Given the description of an element on the screen output the (x, y) to click on. 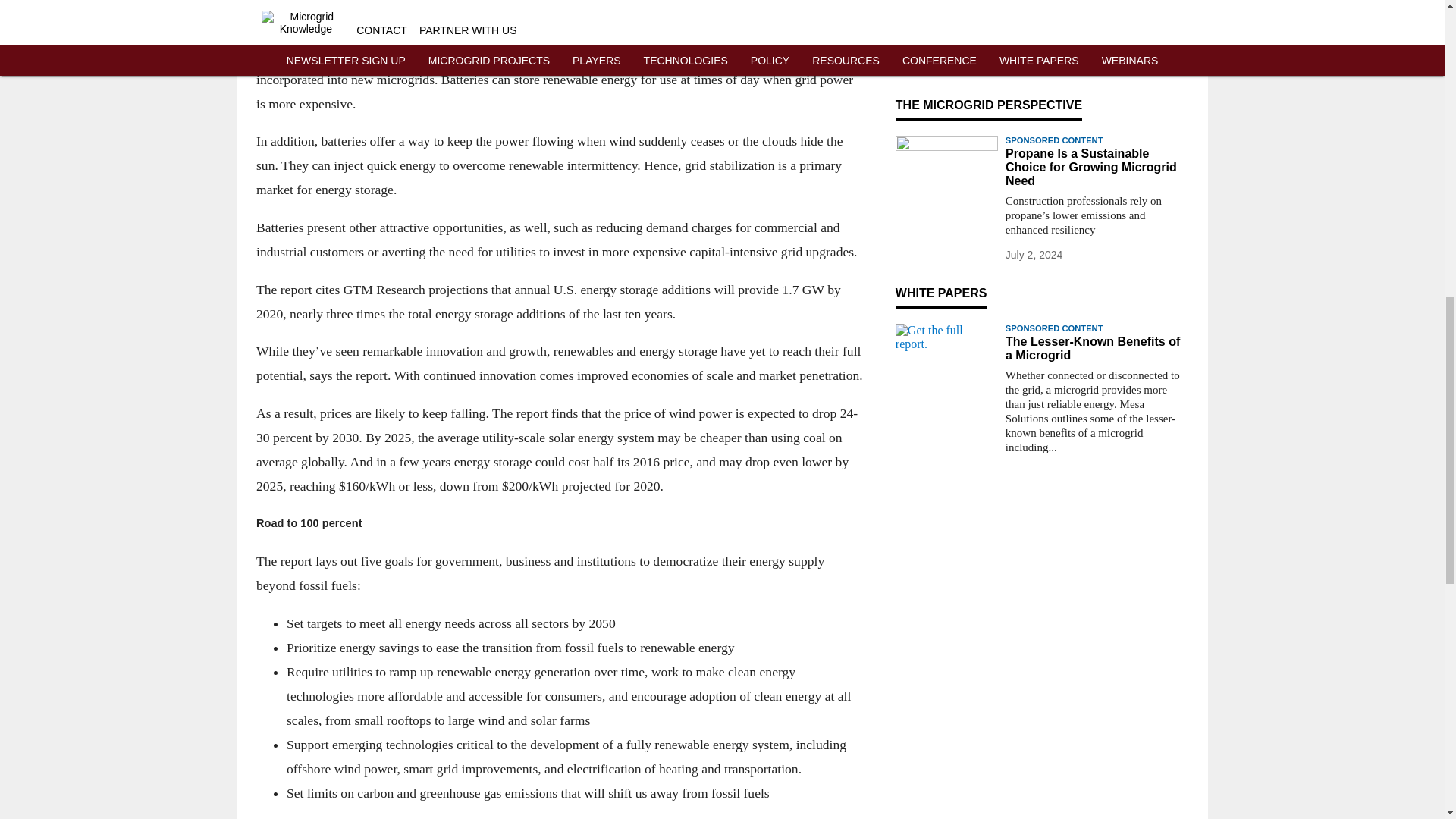
Jackson Emc Microgrid (946, 1)
Aerial Ro Ro Pier 10 2023 (946, 43)
Get the full report. (946, 351)
THE MICROGRID PERSPECTIVE (988, 104)
